Given the description of an element on the screen output the (x, y) to click on. 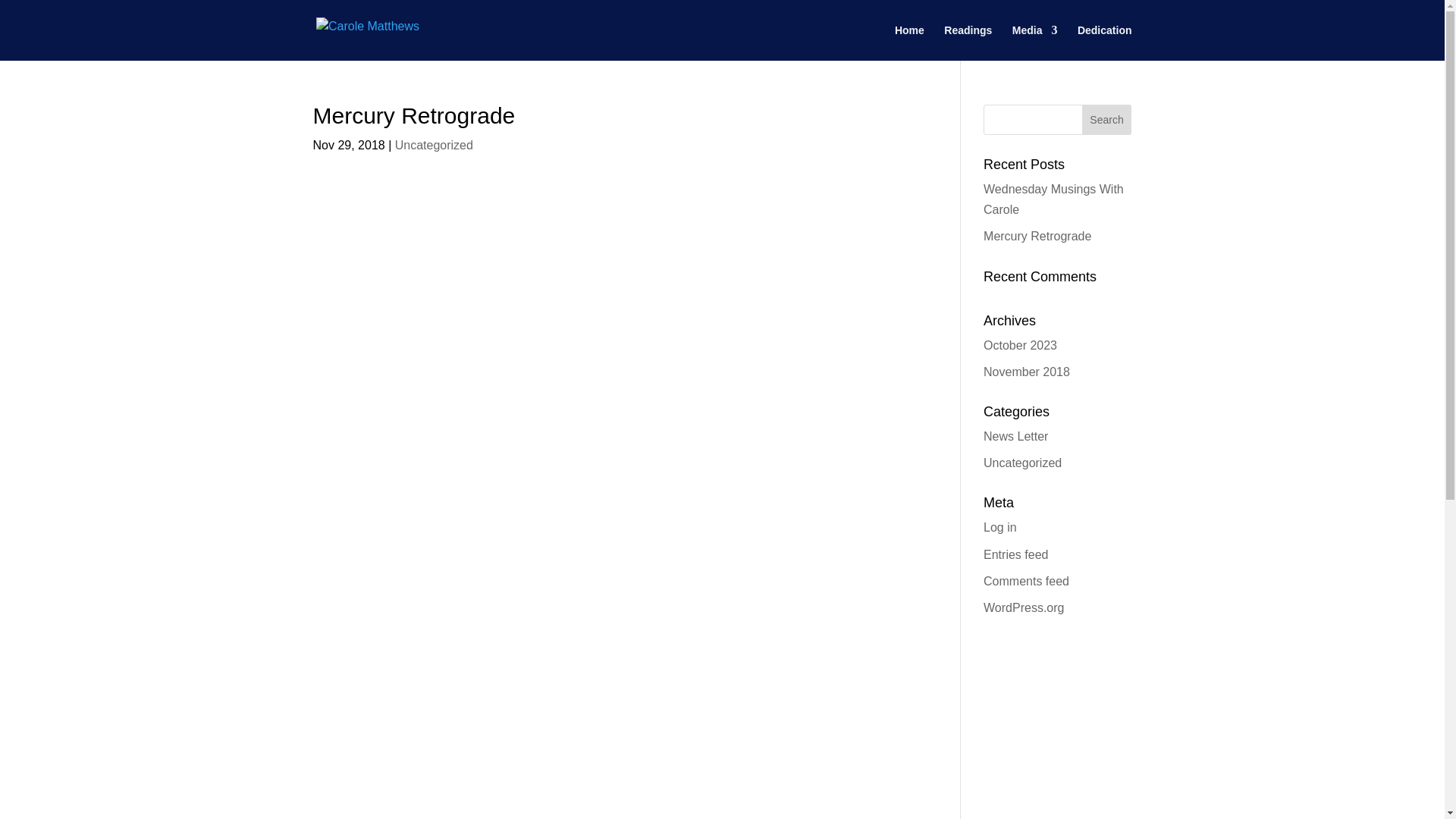
November 2018 (1027, 371)
Log in (1000, 526)
Search (1106, 119)
Uncategorized (433, 144)
Comments feed (1026, 581)
Uncategorized (1022, 462)
Dedication (1104, 42)
Wednesday Musings With Carole (1054, 199)
October 2023 (1020, 345)
Media (1034, 42)
